Given the description of an element on the screen output the (x, y) to click on. 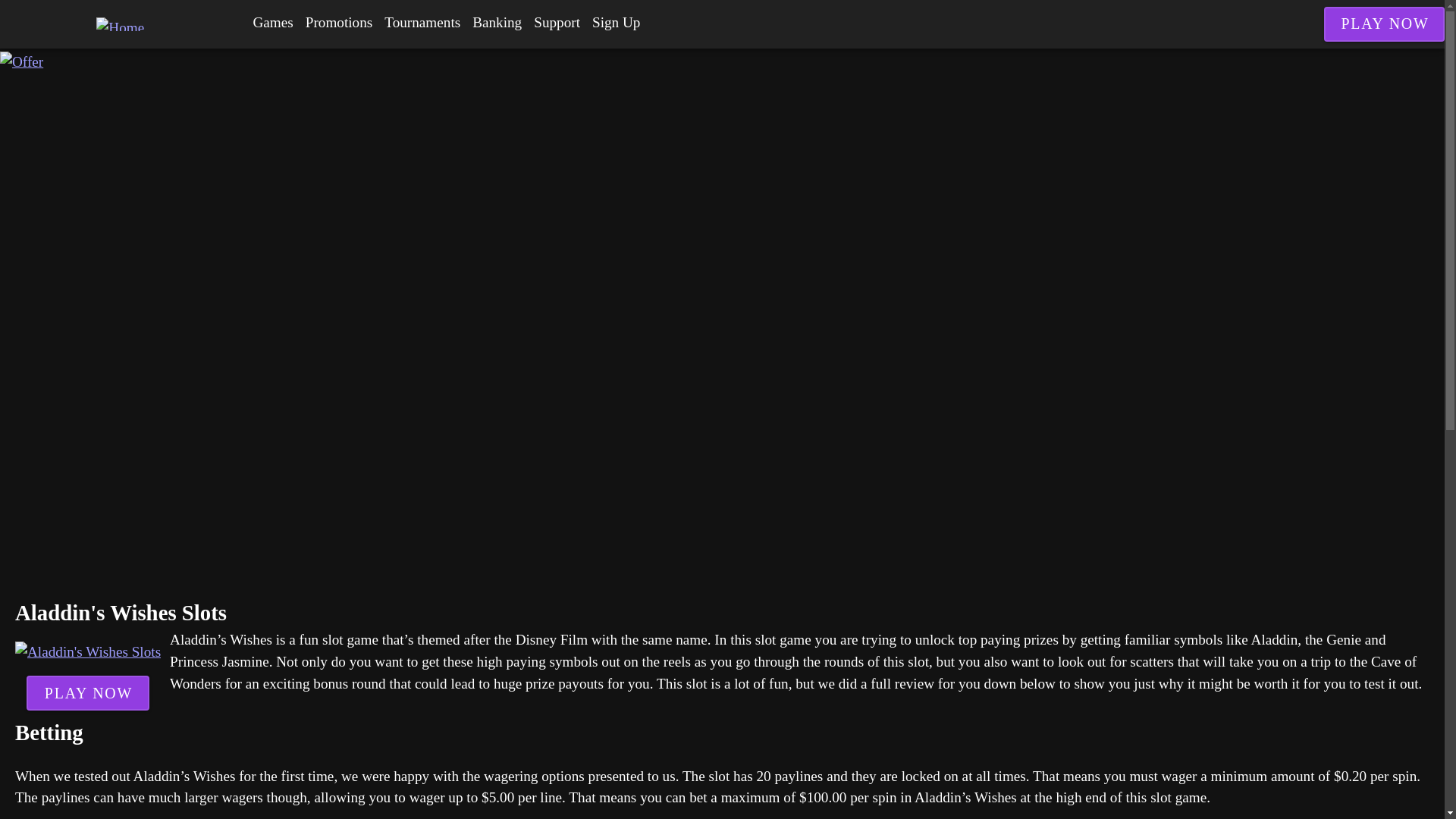
Support (556, 22)
Sign Up (616, 22)
Tournaments (421, 22)
PLAY NOW (87, 692)
Banking (496, 22)
Games (273, 22)
Promotions (338, 22)
